Given the description of an element on the screen output the (x, y) to click on. 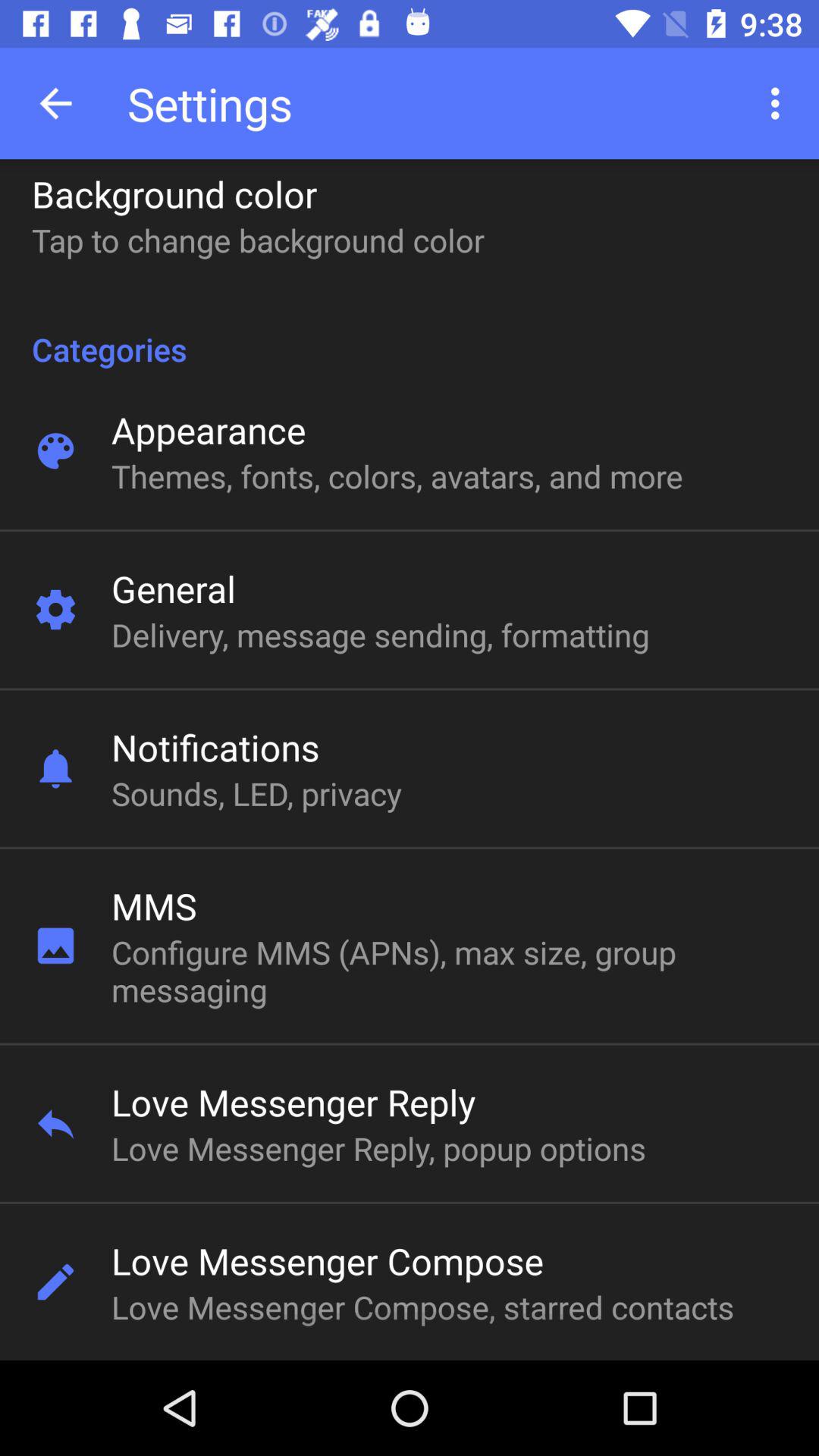
click icon above the appearance item (409, 332)
